Given the description of an element on the screen output the (x, y) to click on. 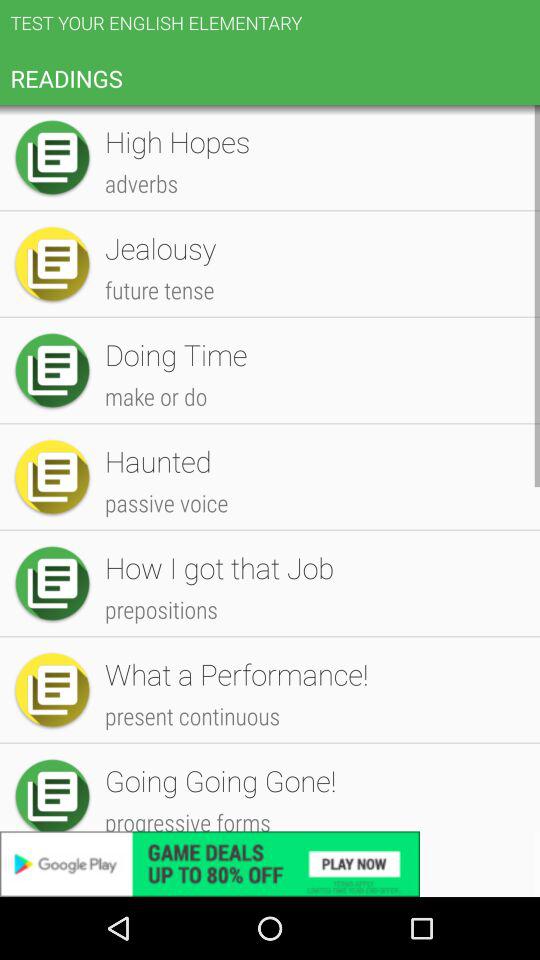
tap icon above the random test item (311, 224)
